Given the description of an element on the screen output the (x, y) to click on. 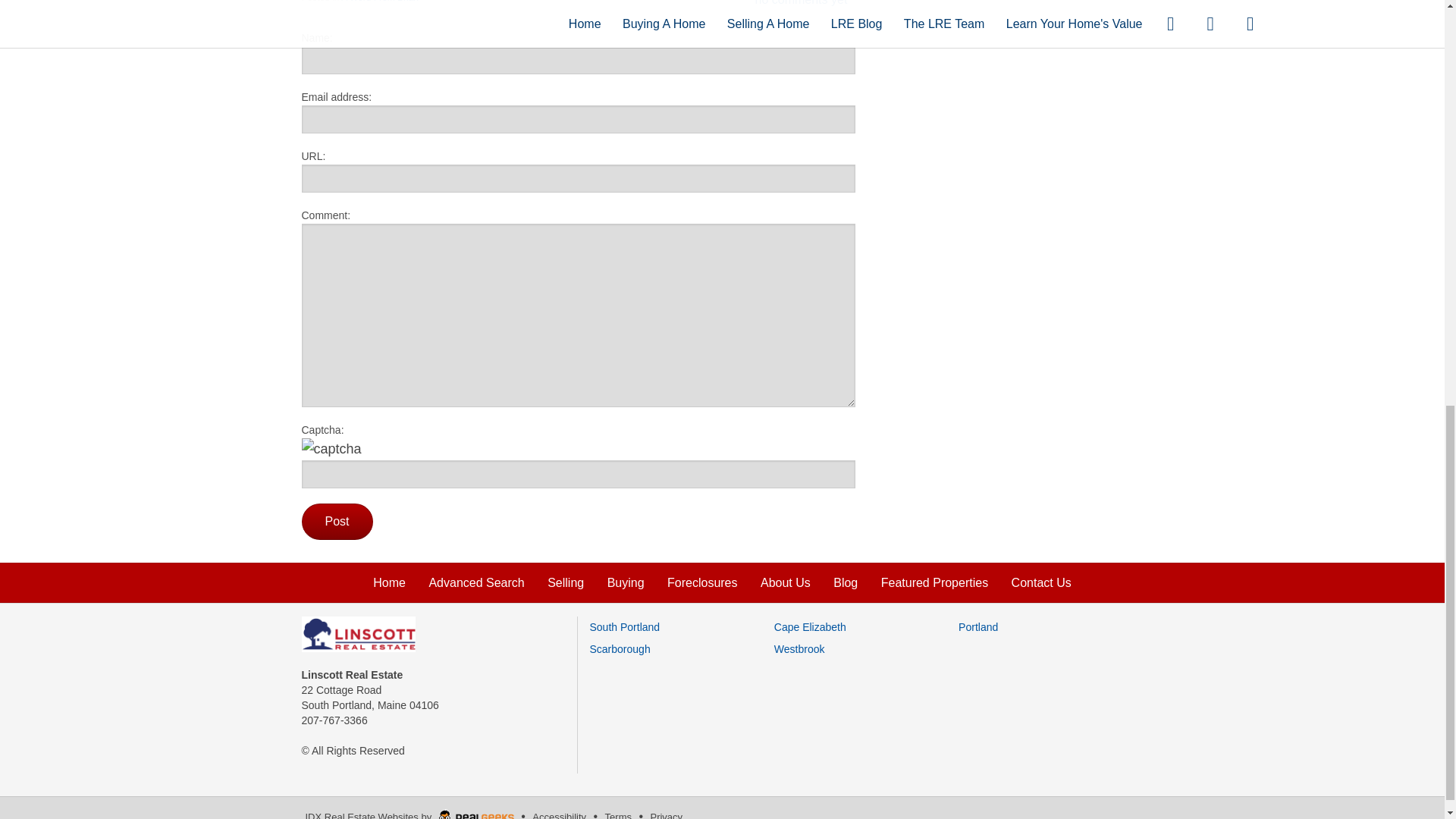
Post (336, 521)
A Word From Brian (379, 1)
Post (336, 521)
no comments yet (801, 2)
